Given the description of an element on the screen output the (x, y) to click on. 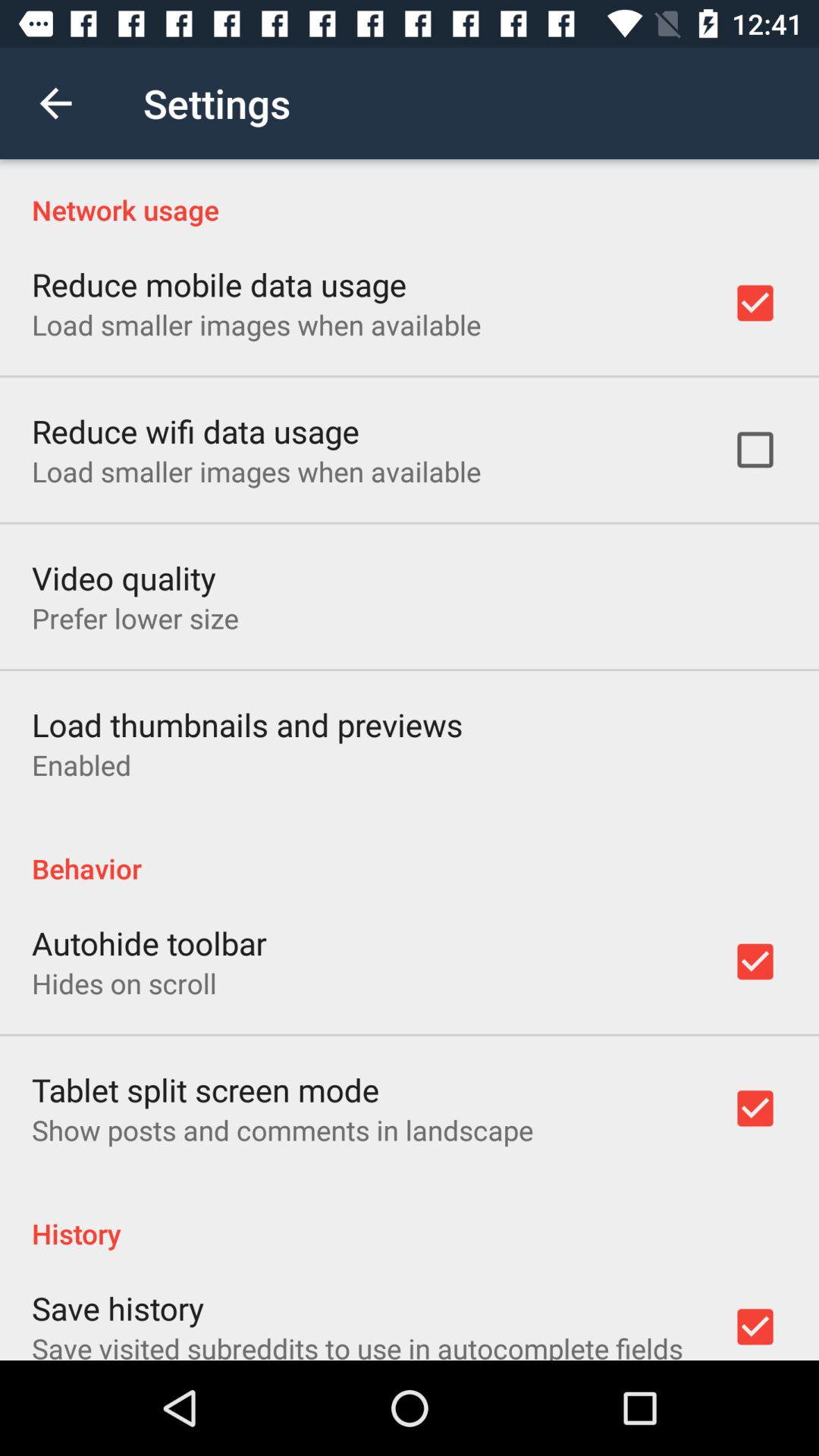
press the item above hides on scroll item (148, 942)
